Given the description of an element on the screen output the (x, y) to click on. 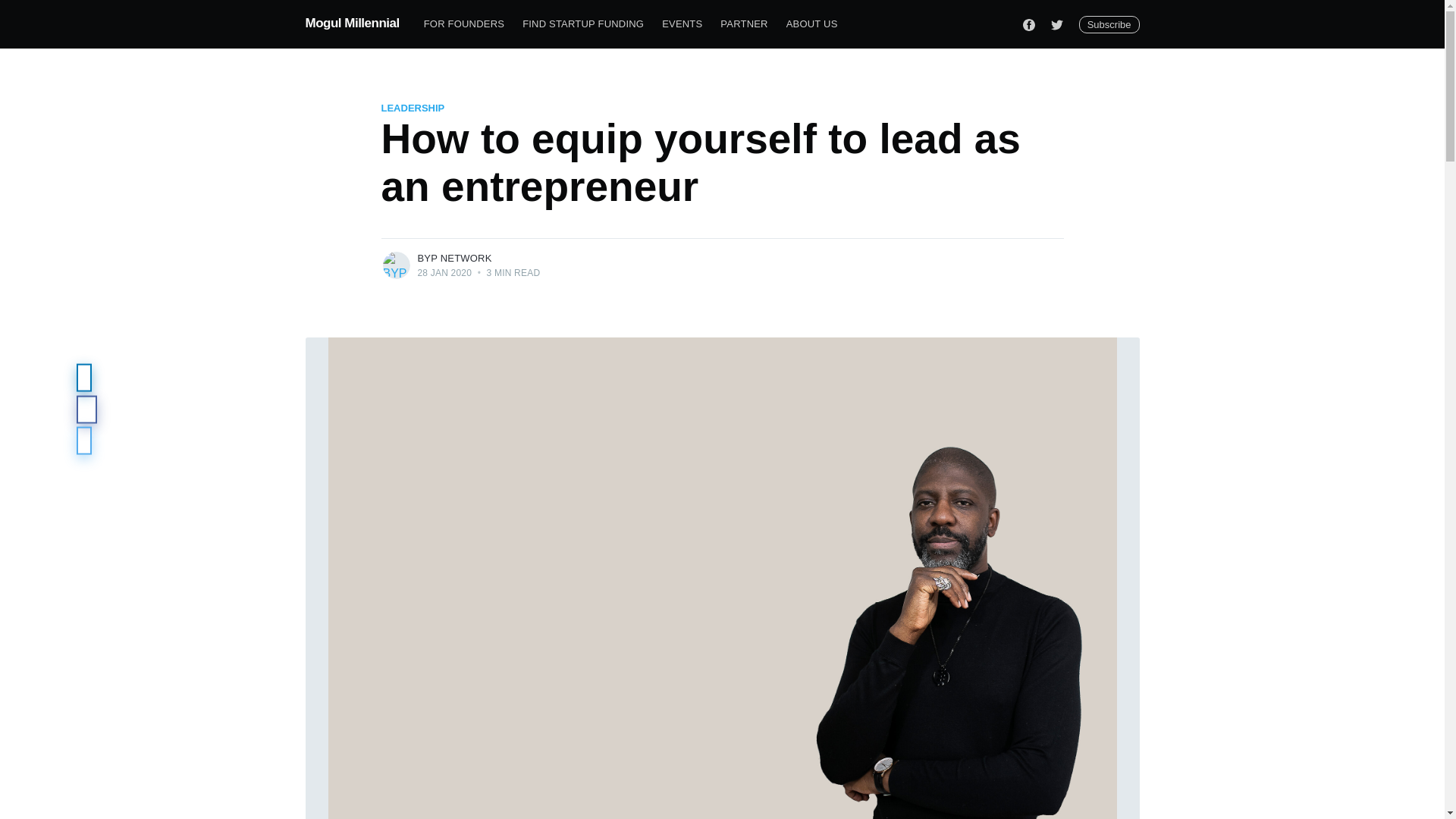
BYP NETWORK (454, 257)
EVENTS (681, 24)
ABOUT US (812, 24)
FOR FOUNDERS (463, 24)
FIND STARTUP FUNDING (582, 24)
LEADERSHIP (412, 108)
Subscribe (1109, 23)
Mogul Millennial (351, 23)
PARTNER (743, 24)
